Given the description of an element on the screen output the (x, y) to click on. 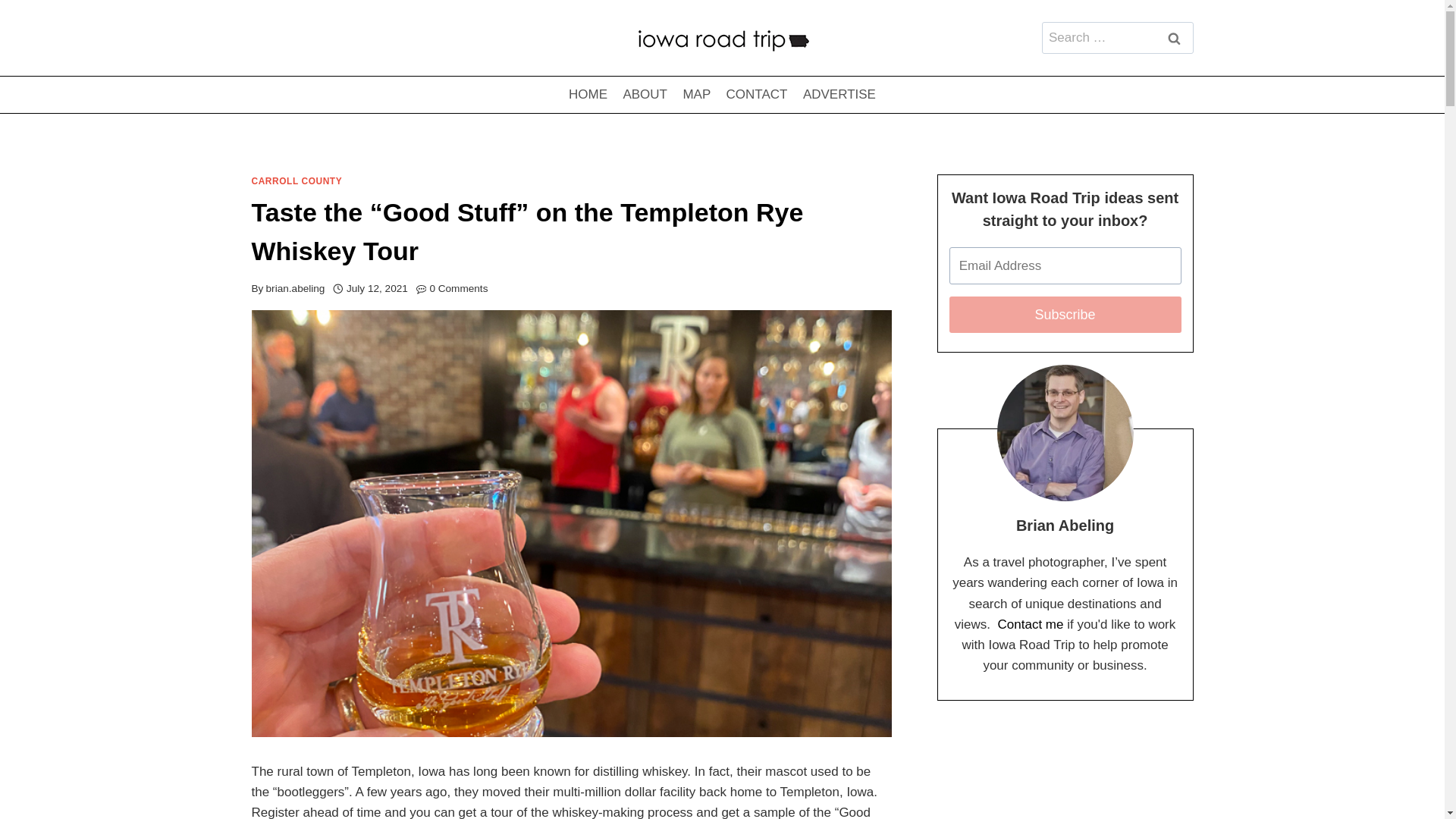
CONTACT (755, 94)
MAP (696, 94)
Search (1174, 38)
CARROLL COUNTY (296, 181)
HOME (587, 94)
0 Comments (458, 288)
ADVERTISE (838, 94)
Search (1174, 38)
Search (1174, 38)
ABOUT (644, 94)
brian.abeling (295, 288)
0 Comments (458, 288)
